Given the description of an element on the screen output the (x, y) to click on. 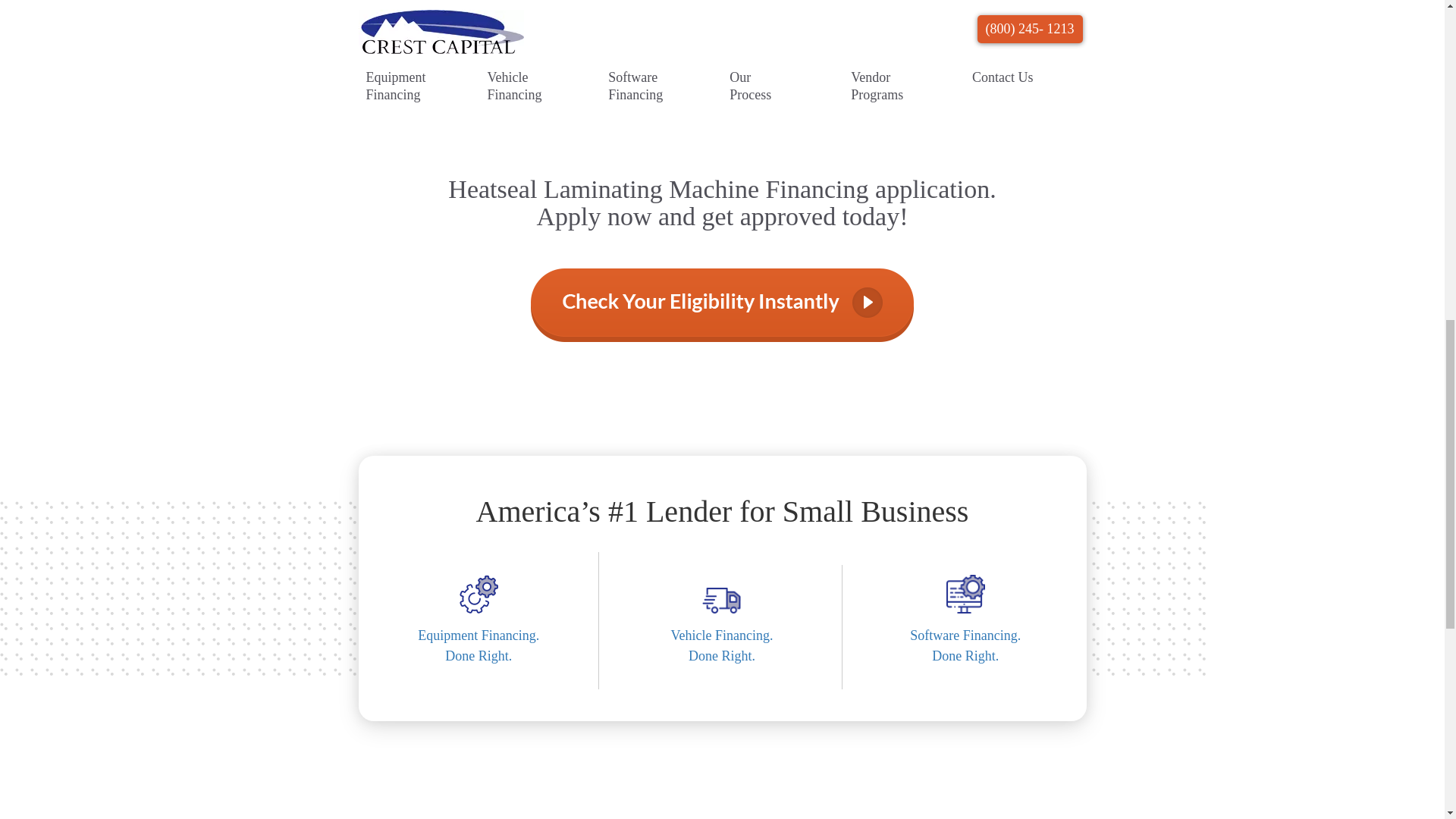
Contact Crest Capital today (723, 656)
